Given the description of an element on the screen output the (x, y) to click on. 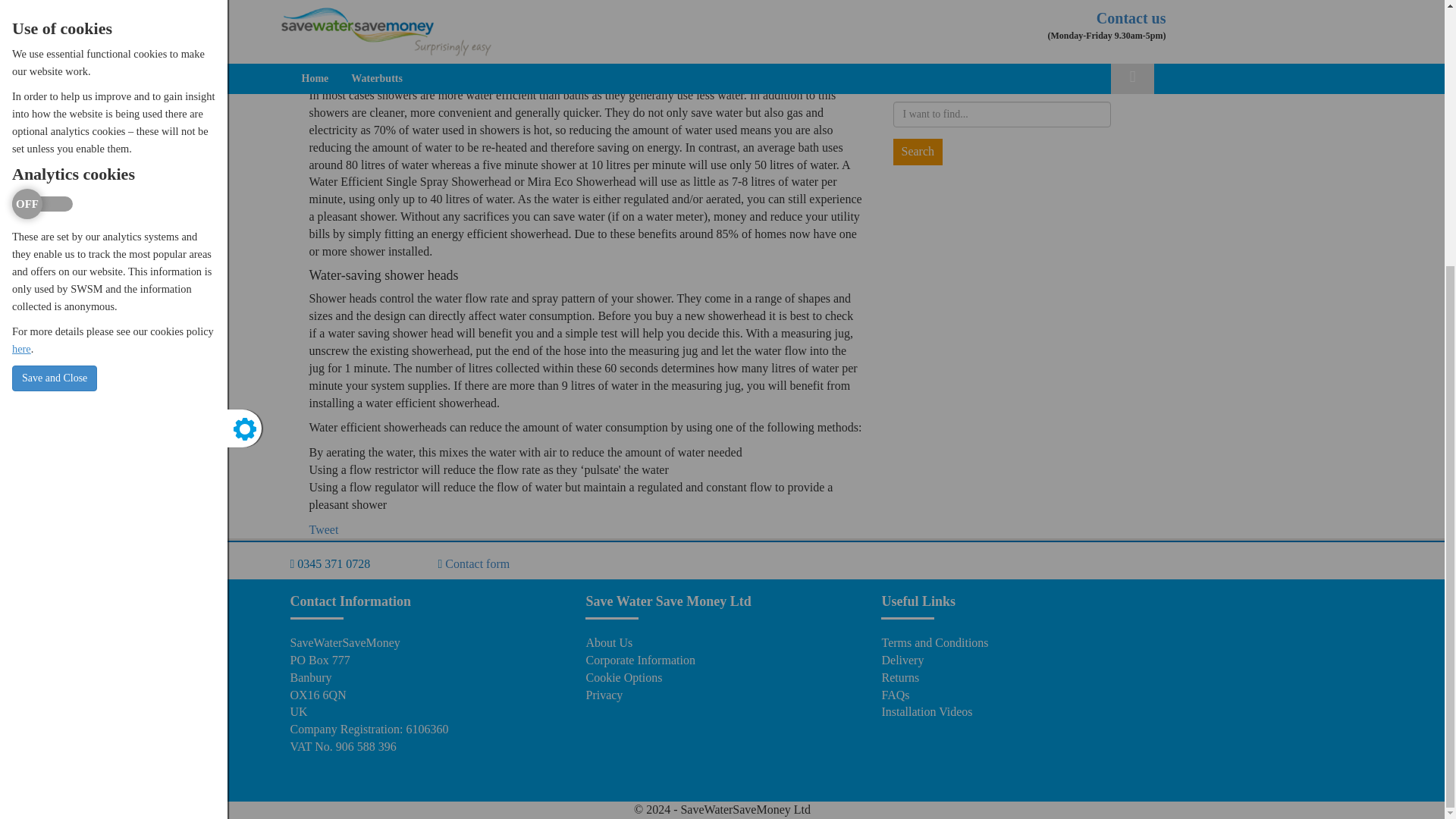
Search (918, 151)
Privacy (604, 694)
About Us (608, 642)
Delivery (901, 659)
Contact form (477, 563)
2 Articles in "Tackle Tough Limescale" (1029, 12)
Cookie Options (623, 676)
FAQs (894, 694)
Save and Close (54, 2)
Tweet (323, 529)
Installation Videos (926, 711)
1 Article in "Water Efficiency" (1029, 41)
Returns (899, 676)
Terms and Conditions (934, 642)
Corporate Information (639, 659)
